Given the description of an element on the screen output the (x, y) to click on. 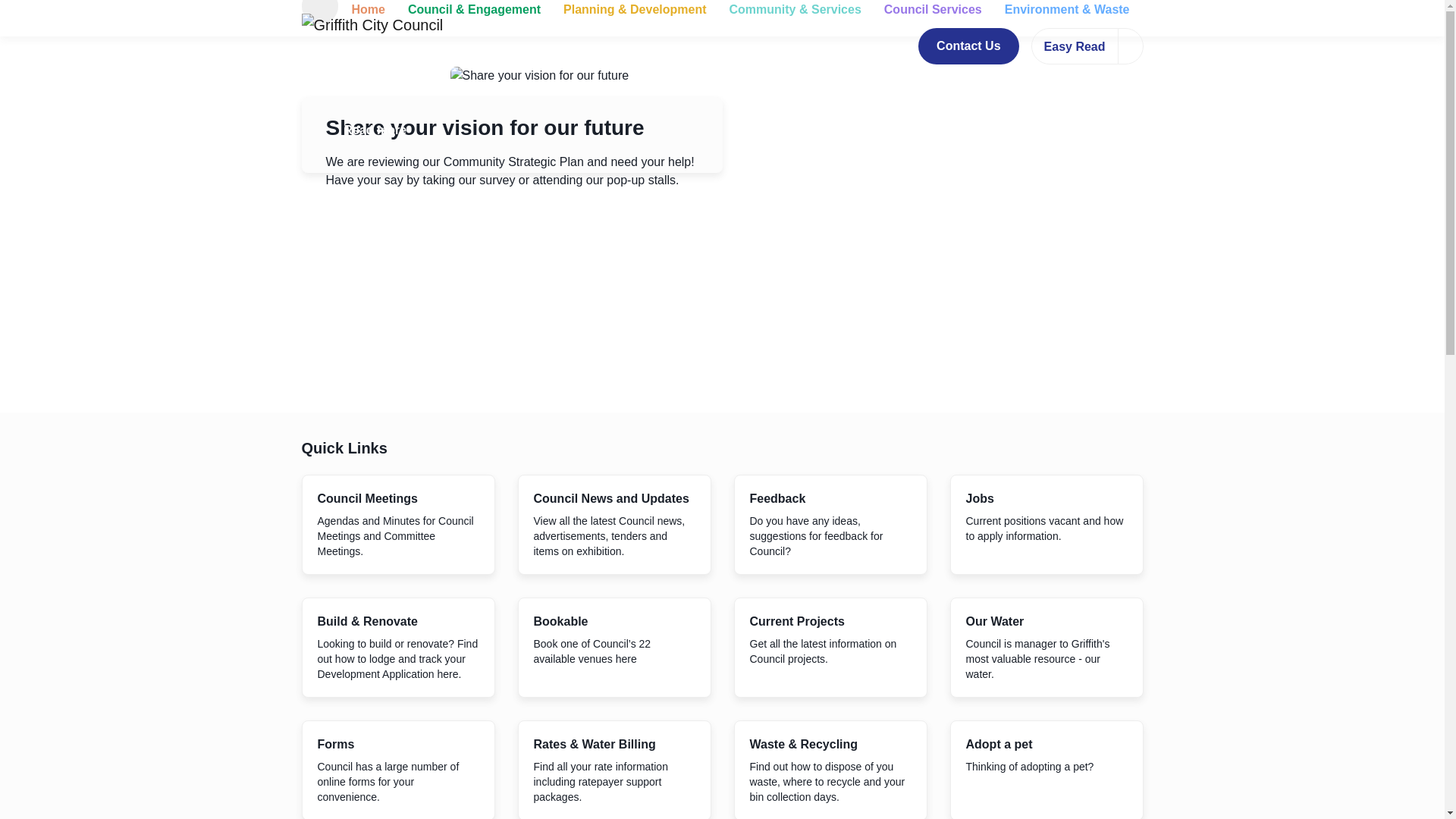
Home (367, 13)
